Given the description of an element on the screen output the (x, y) to click on. 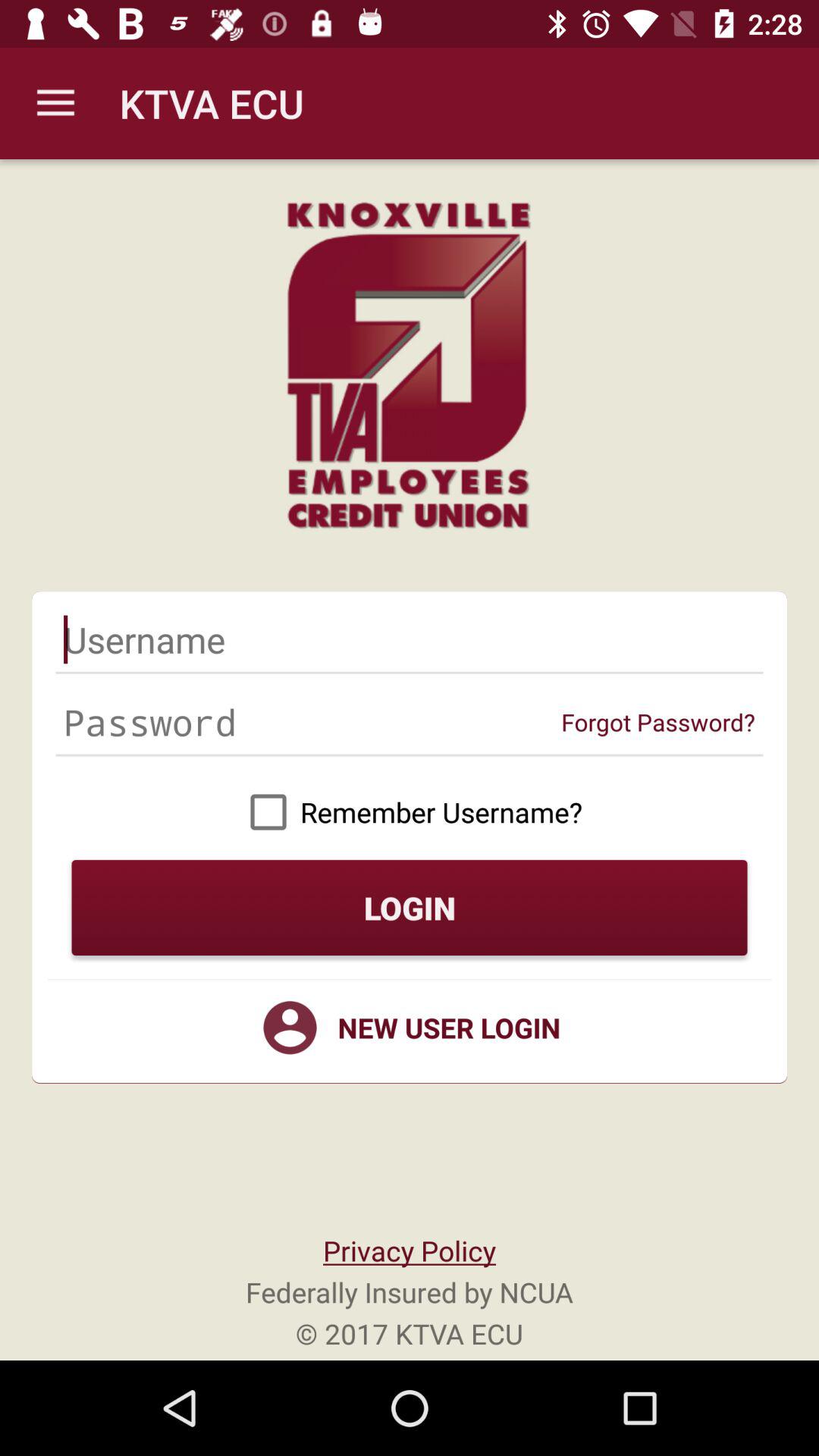
type in username to login (409, 639)
